Given the description of an element on the screen output the (x, y) to click on. 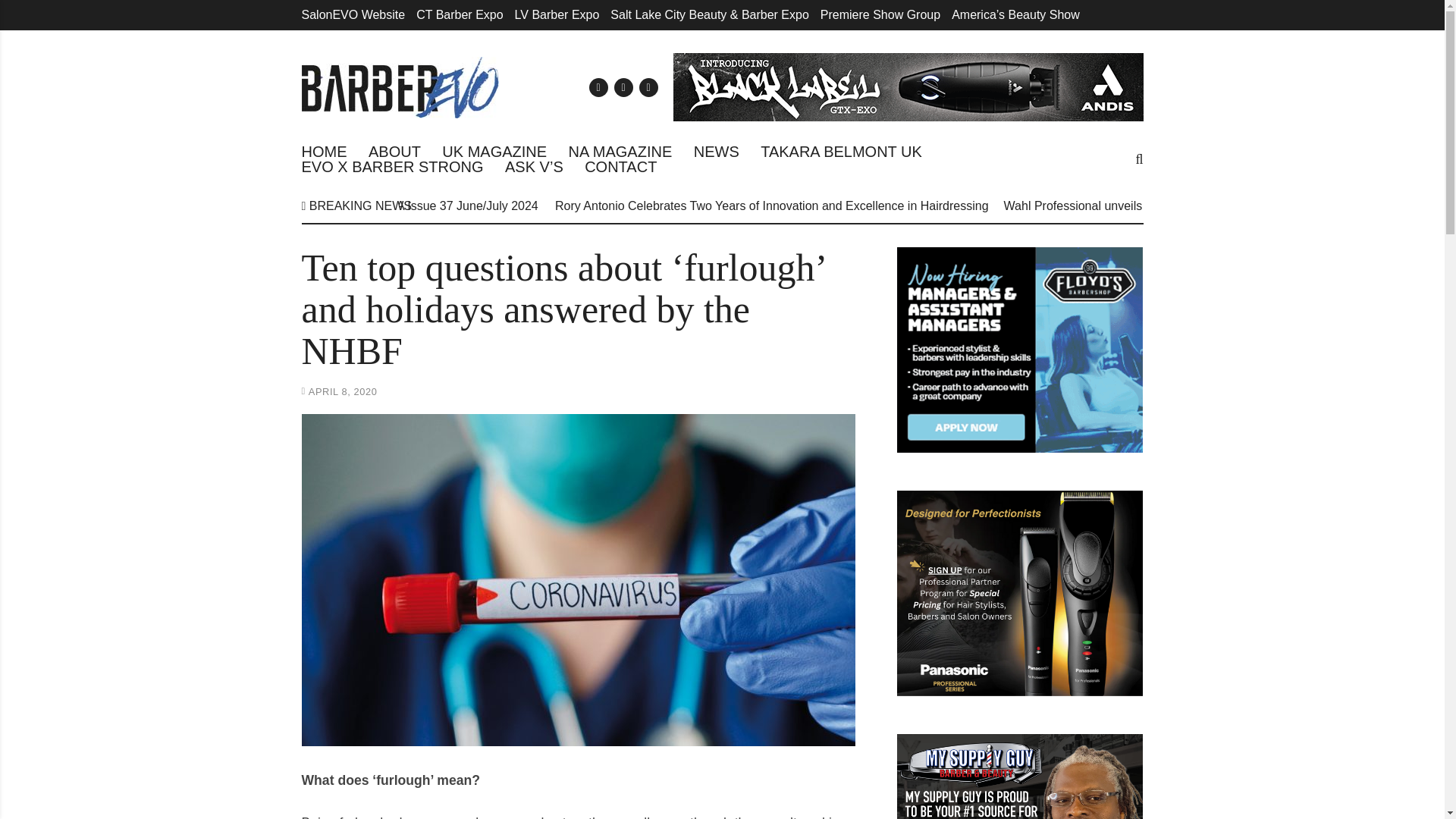
Email (597, 86)
EVO X BARBER STRONG (392, 166)
Premiere Show Group (880, 14)
CONTACT (620, 166)
CT Barber Expo (459, 14)
NA MAGAZINE (620, 151)
UK MAGAZINE (494, 151)
ABOUT (394, 151)
TAKARA BELMONT UK (840, 151)
SalonEVO Website (353, 14)
NEWS (716, 151)
BarberEVO Magazine (400, 86)
LV Barber Expo (557, 14)
